Given the description of an element on the screen output the (x, y) to click on. 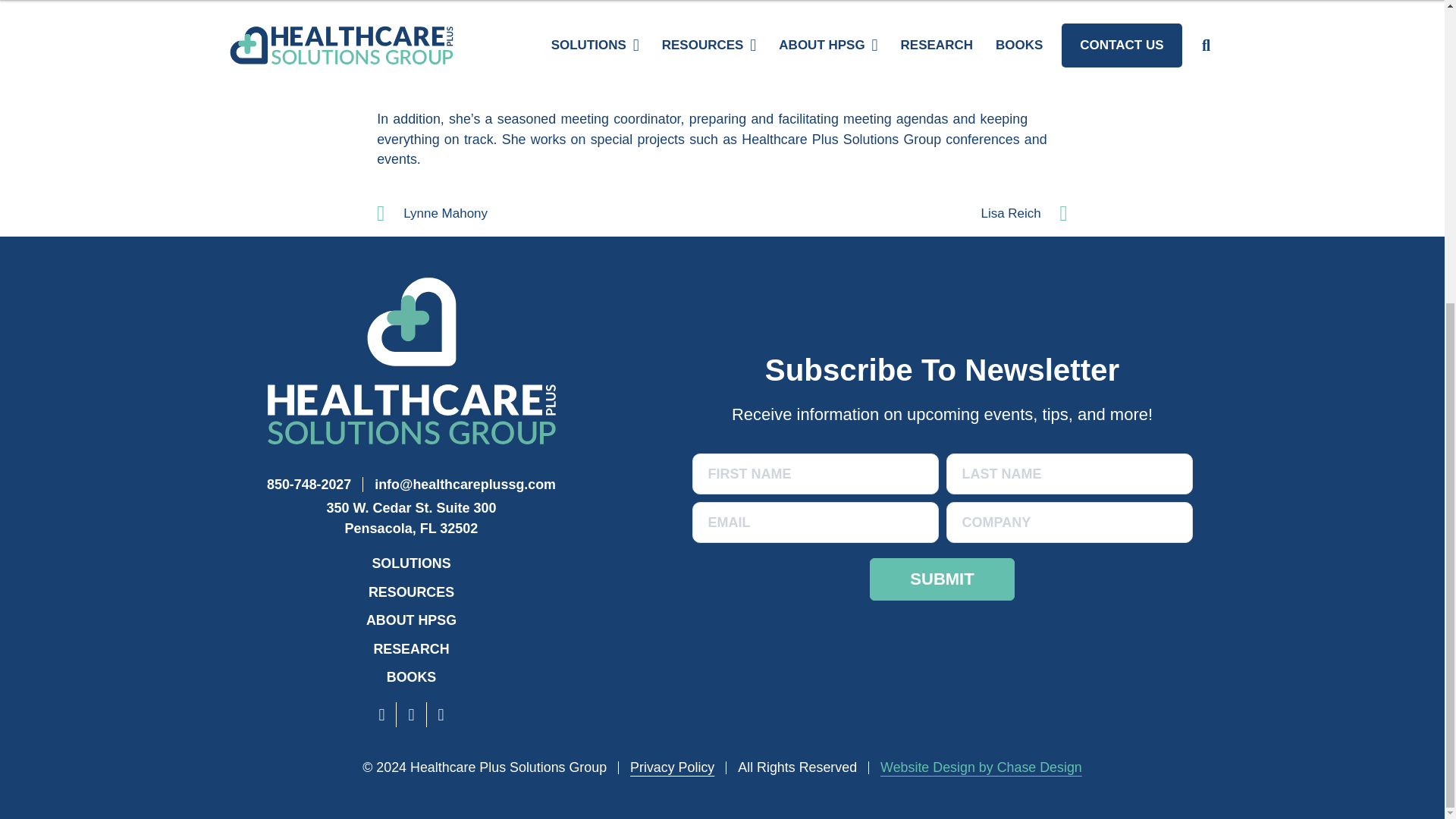
Lisa Reich (894, 213)
850-748-2027 (314, 484)
RESOURCES (411, 591)
Lynne Mahony (549, 213)
ABOUT HPSG (411, 620)
Lynne Mahony (411, 517)
SUBMIT (549, 213)
SOLUTIONS (941, 578)
Lisa Reich (410, 563)
